Given the description of an element on the screen output the (x, y) to click on. 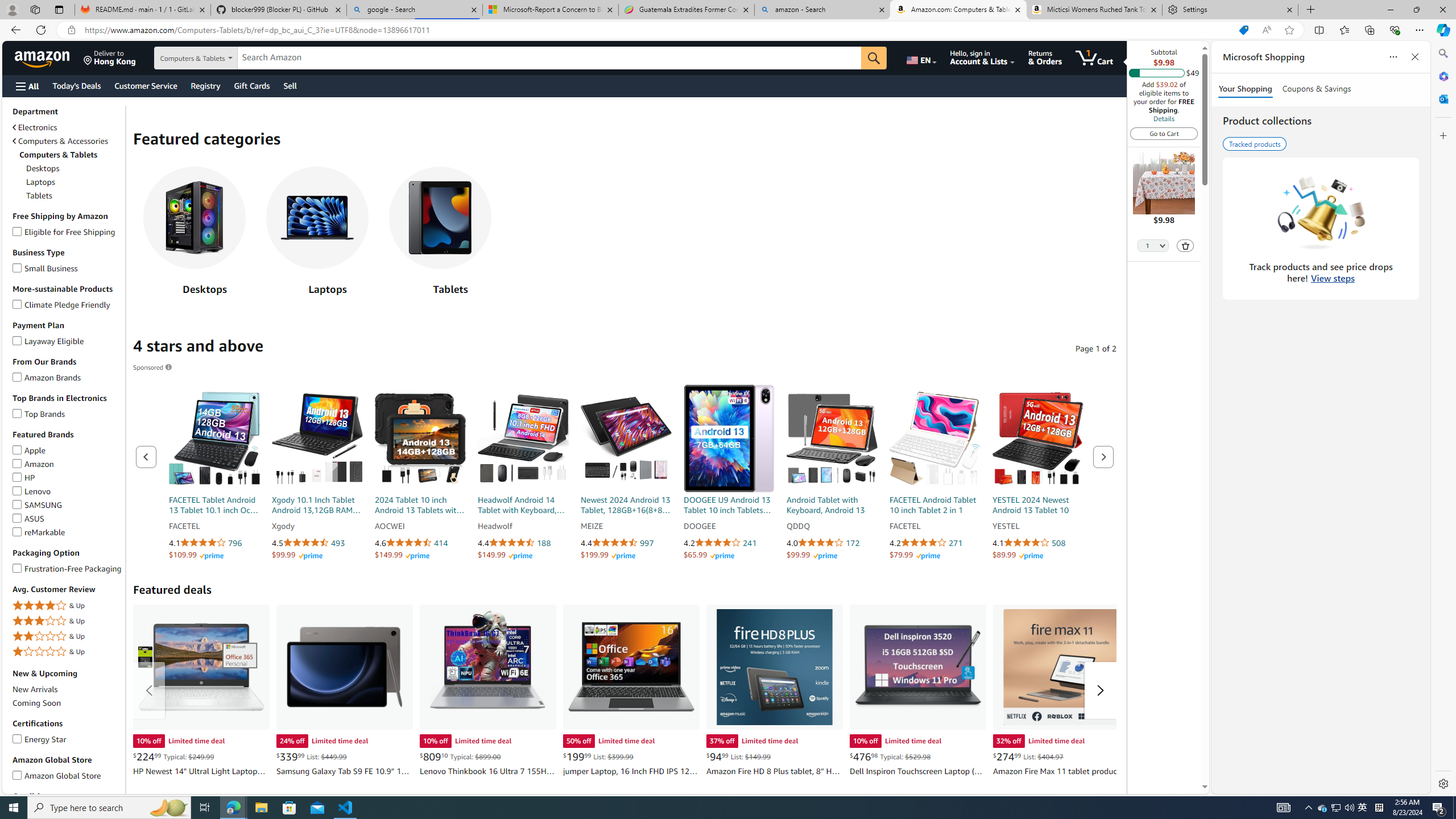
New Arrivals (35, 688)
Galaxy Tab S9 FE (344, 666)
Energy StarEnergy Star (67, 739)
AmazonAmazon (67, 464)
2 Stars & Up& Up (67, 635)
Amazon Global StoreAmazon Global Store (67, 775)
Laptops (317, 217)
Customer Service (145, 85)
Details (1163, 118)
Computers & Accessories (60, 140)
